Given the description of an element on the screen output the (x, y) to click on. 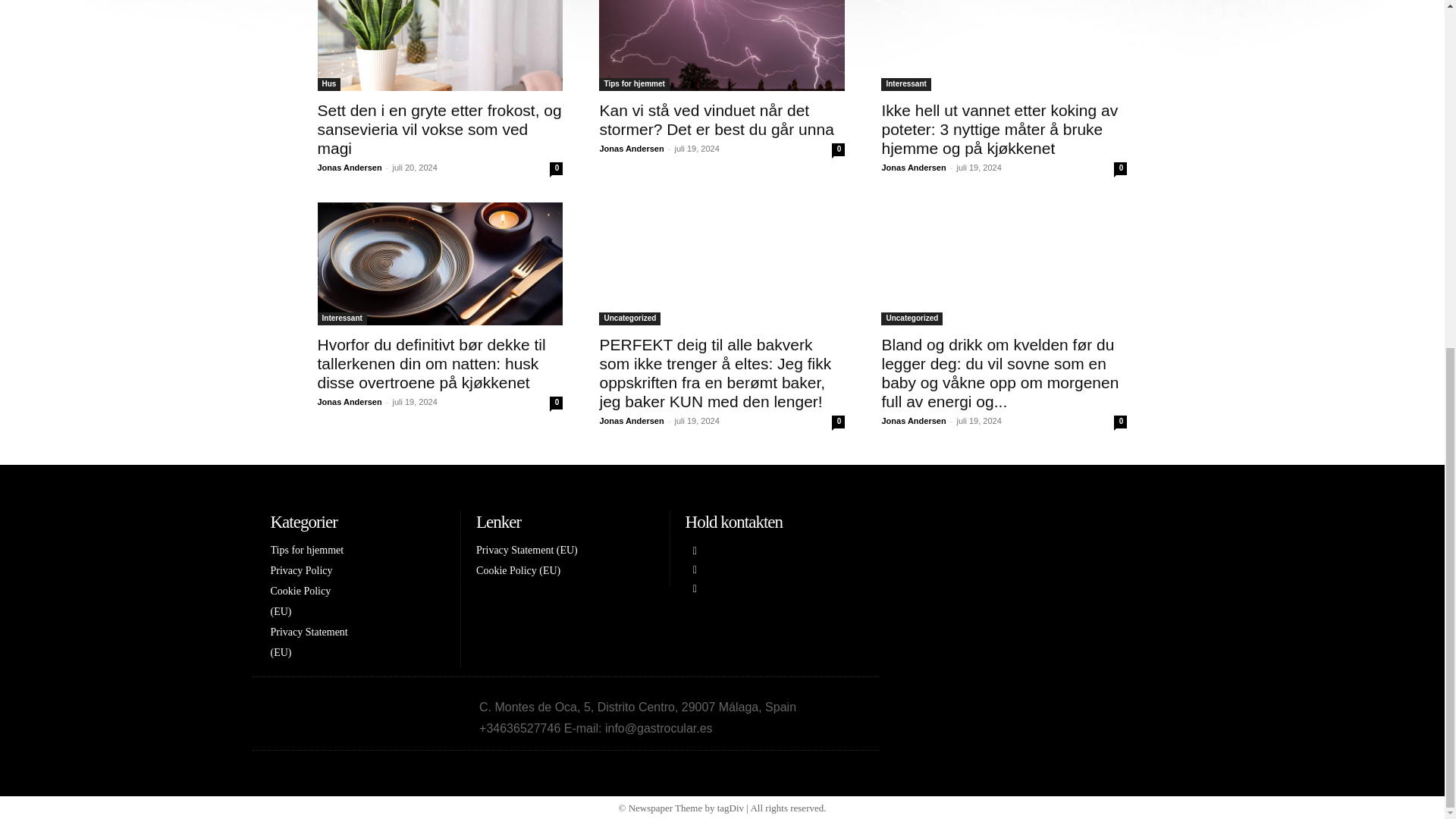
Hus (328, 83)
Tips for hjemmet (633, 83)
Jonas Andersen (349, 166)
0 (556, 168)
